Given the description of an element on the screen output the (x, y) to click on. 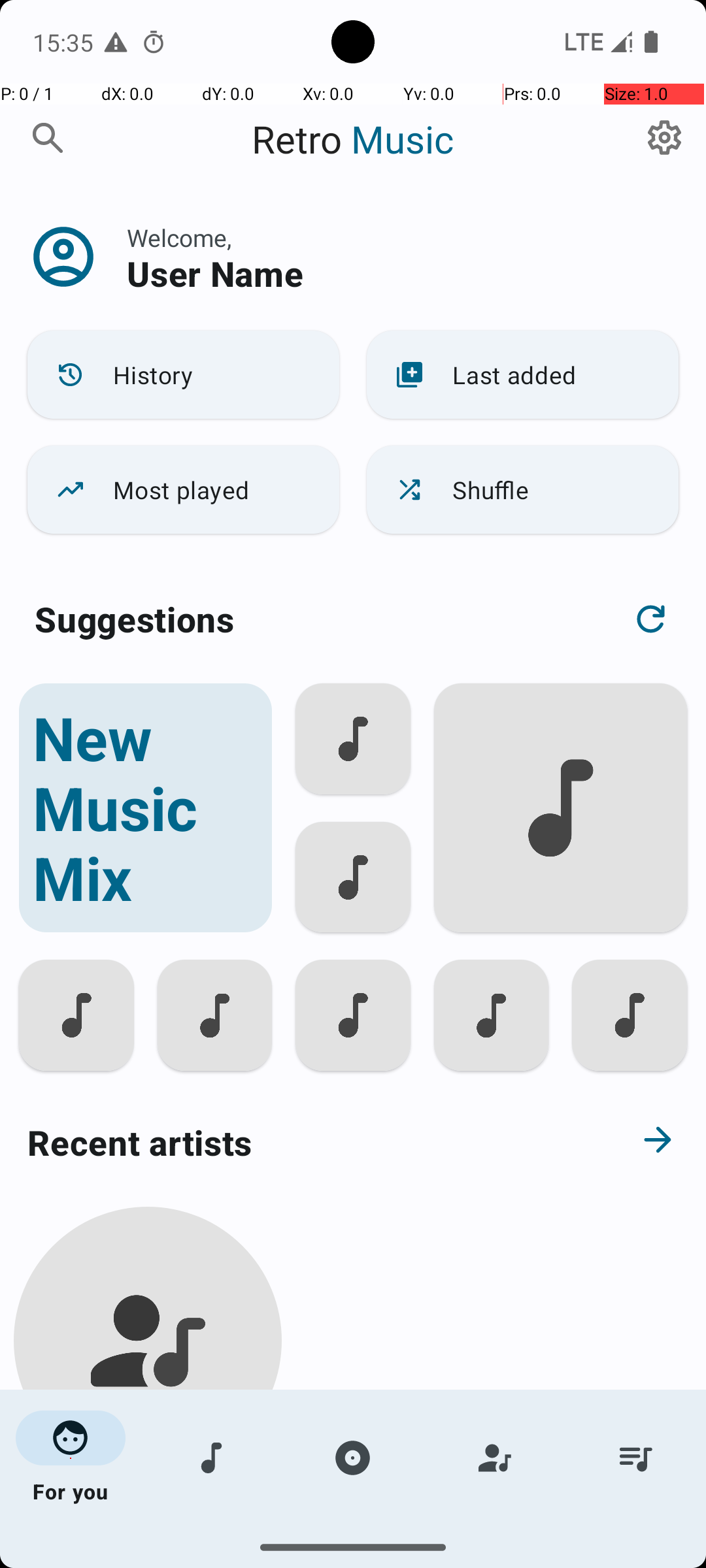
Henry Element type: android.widget.TextView (147, 1503)
